Given the description of an element on the screen output the (x, y) to click on. 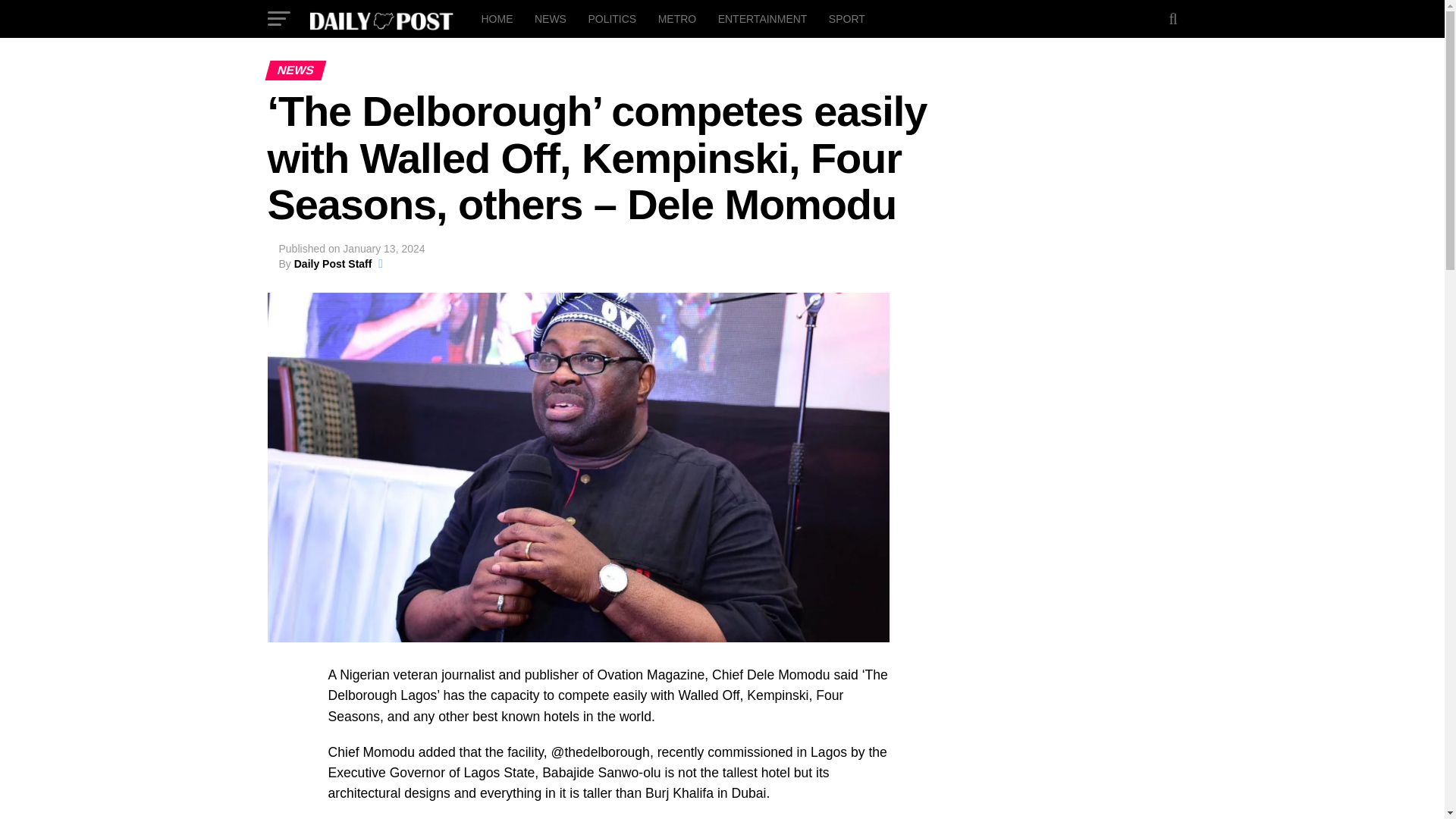
Posts by Daily Post Staff (333, 263)
HOME (496, 18)
POLITICS (611, 18)
ENTERTAINMENT (762, 18)
NEWS (550, 18)
SPORT (847, 18)
METRO (677, 18)
Daily Post Staff (333, 263)
